Given the description of an element on the screen output the (x, y) to click on. 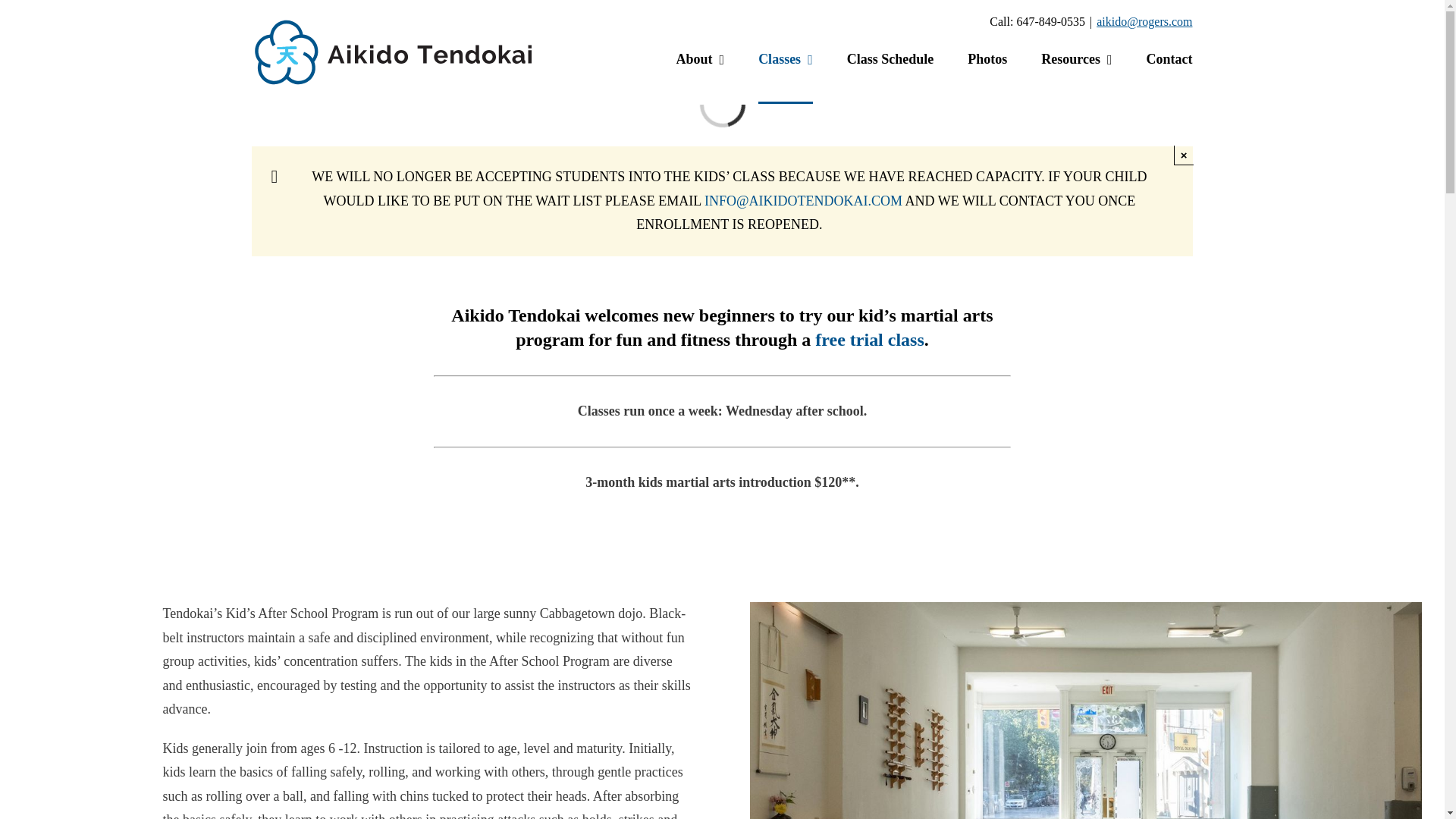
Class Schedule (890, 74)
Martial Arts Dojo Downtown Toronto (1085, 608)
Resources (1076, 74)
Classes (785, 74)
